Given the description of an element on the screen output the (x, y) to click on. 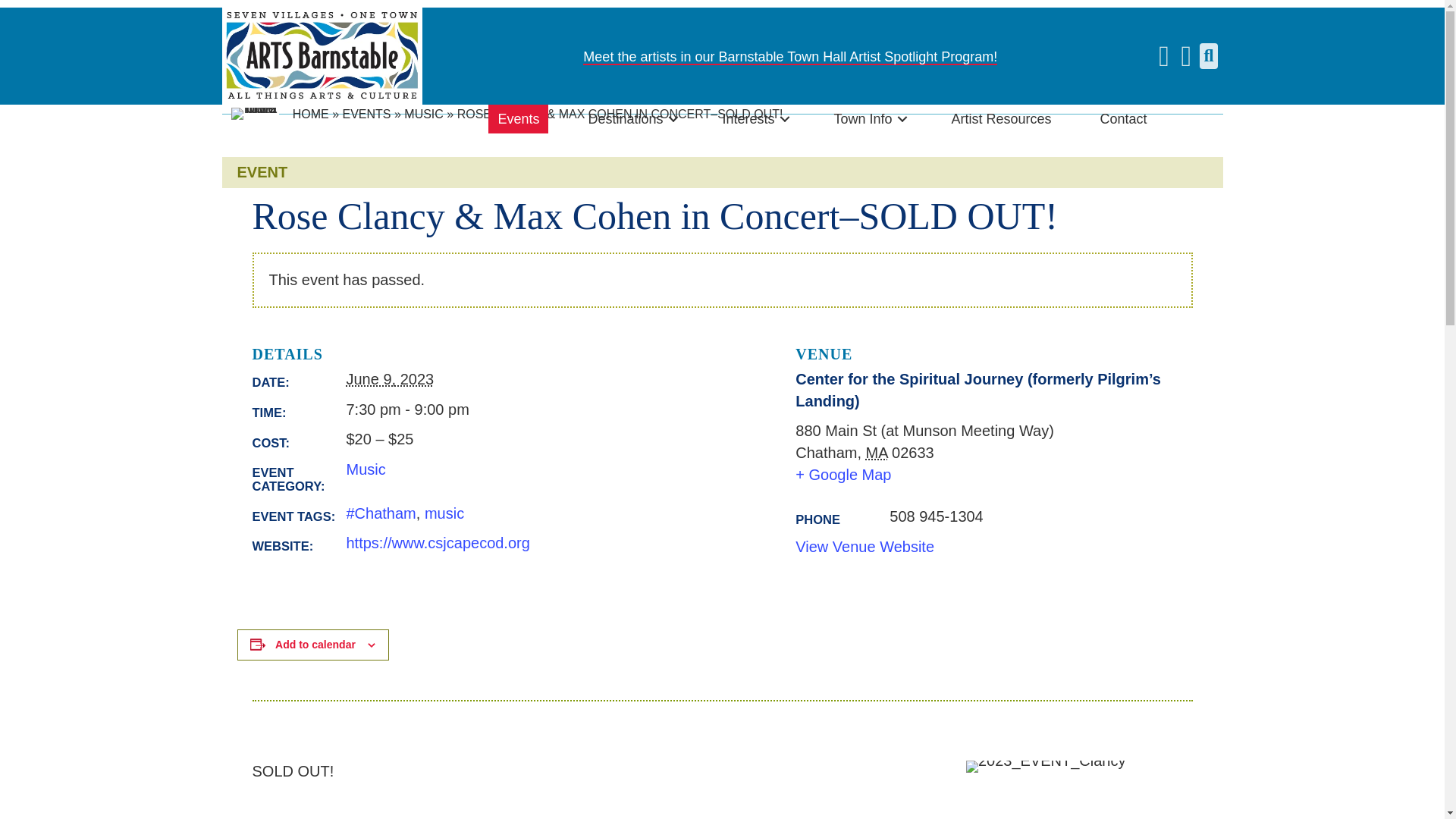
HOME (310, 114)
MUSIC (424, 114)
breadcrumbarrow2 (255, 113)
Interests (753, 118)
Click to view a Google Map (988, 475)
Artist Resources (1000, 118)
Massachusetts (877, 452)
Town Info (867, 118)
Destinations (630, 118)
Events (517, 118)
EVENTS (366, 114)
Contact (1123, 118)
2023-06-09 (389, 379)
2023-06-09 (555, 409)
